Given the description of an element on the screen output the (x, y) to click on. 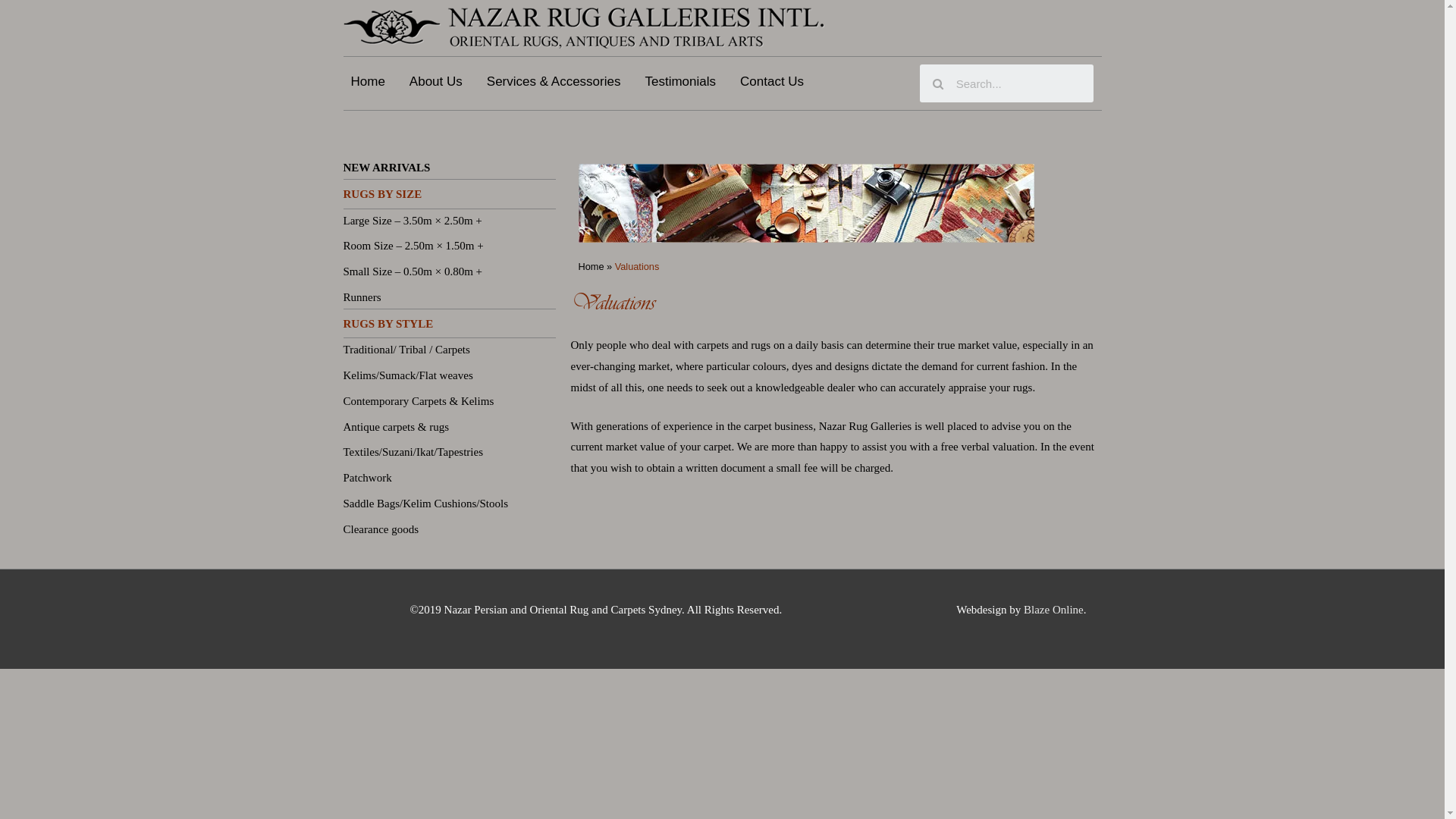
Textiles/Suzani/Ikat/Tapestries Element type: text (412, 451)
Antique carpets & rugs Element type: text (395, 426)
Contemporary Carpets & Kelims Element type: text (417, 401)
Home Element type: text (367, 81)
Search Element type: hover (1018, 83)
Services & Accessories Element type: text (553, 81)
Kelims/Sumack/Flat weaves Element type: text (407, 375)
Clearance goods Element type: text (380, 529)
Blaze Online Element type: text (1053, 609)
RUGS BY STYLE Element type: text (387, 322)
Contact Us Element type: text (771, 81)
Home Element type: text (590, 266)
About Us Element type: text (435, 81)
Saddle Bags/Kelim Cushions/Stools Element type: text (425, 503)
Patchwork Element type: text (366, 477)
Testimonials Element type: text (679, 81)
RUGS BY SIZE Element type: text (381, 194)
Traditional/ Tribal / Carpets Element type: text (405, 349)
Runners Element type: text (361, 297)
NEW ARRIVALS Element type: text (385, 167)
